Given the description of an element on the screen output the (x, y) to click on. 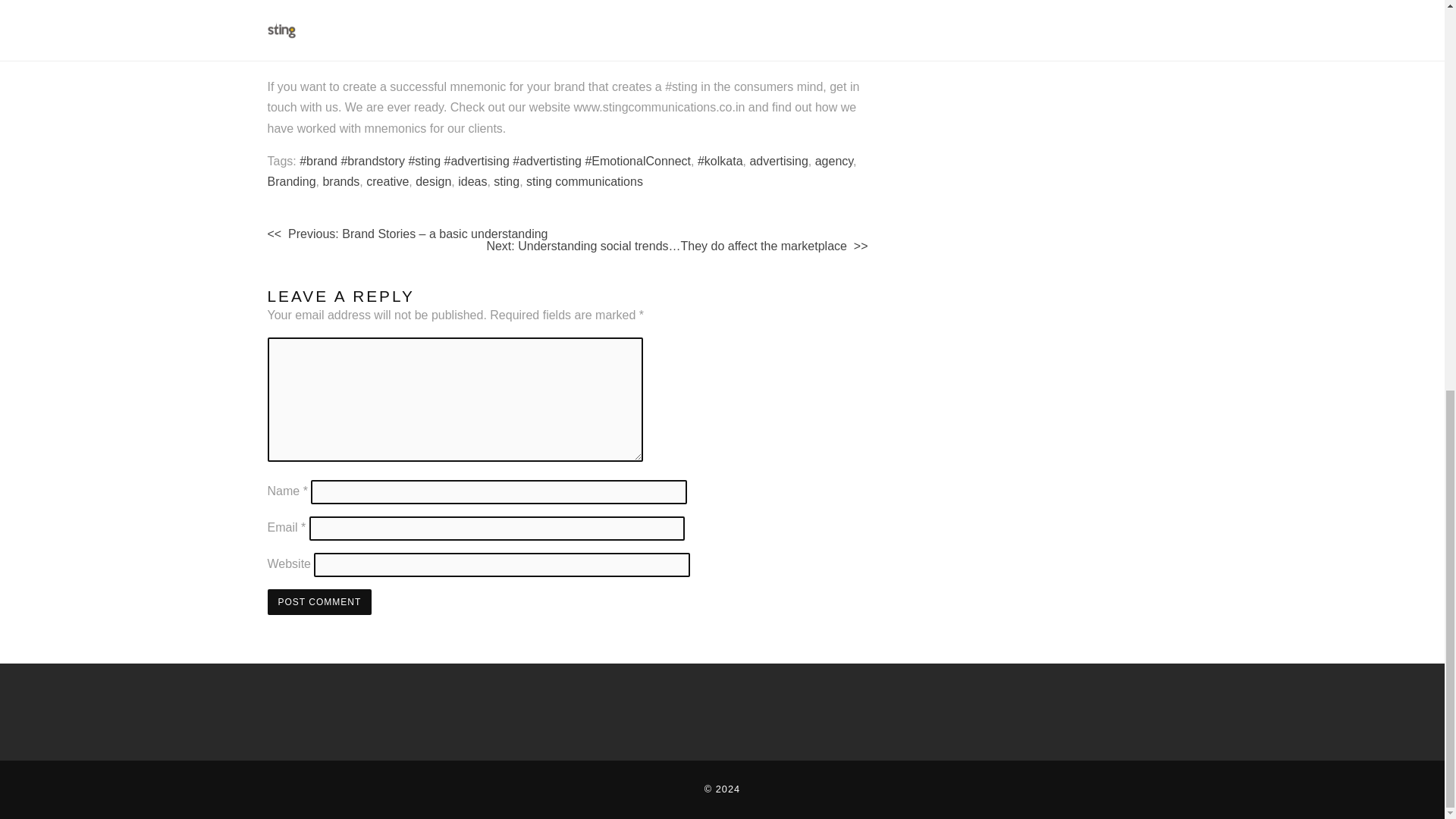
ideas (472, 181)
agency (834, 160)
sting communications (584, 181)
advertising (778, 160)
Branding (290, 181)
Post Comment (318, 601)
Post Comment (318, 601)
brands (340, 181)
creative (387, 181)
sting (506, 181)
design (432, 181)
